Given the description of an element on the screen output the (x, y) to click on. 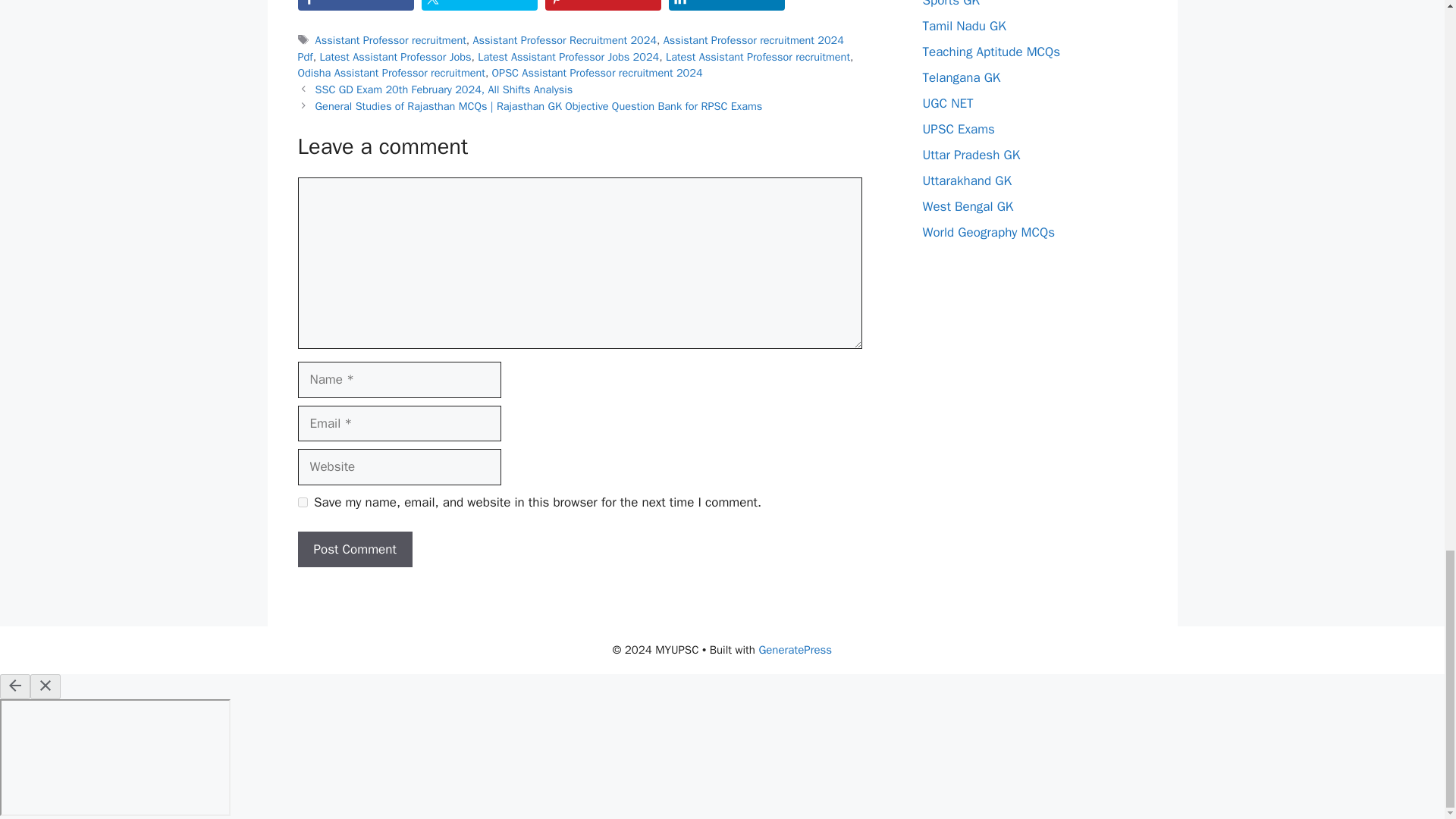
Post Comment (354, 549)
Share on LinkedIn (726, 5)
Share on Pinterest (602, 5)
Share on Twitter (479, 5)
Share on Facebook (355, 5)
yes (302, 501)
